Given the description of an element on the screen output the (x, y) to click on. 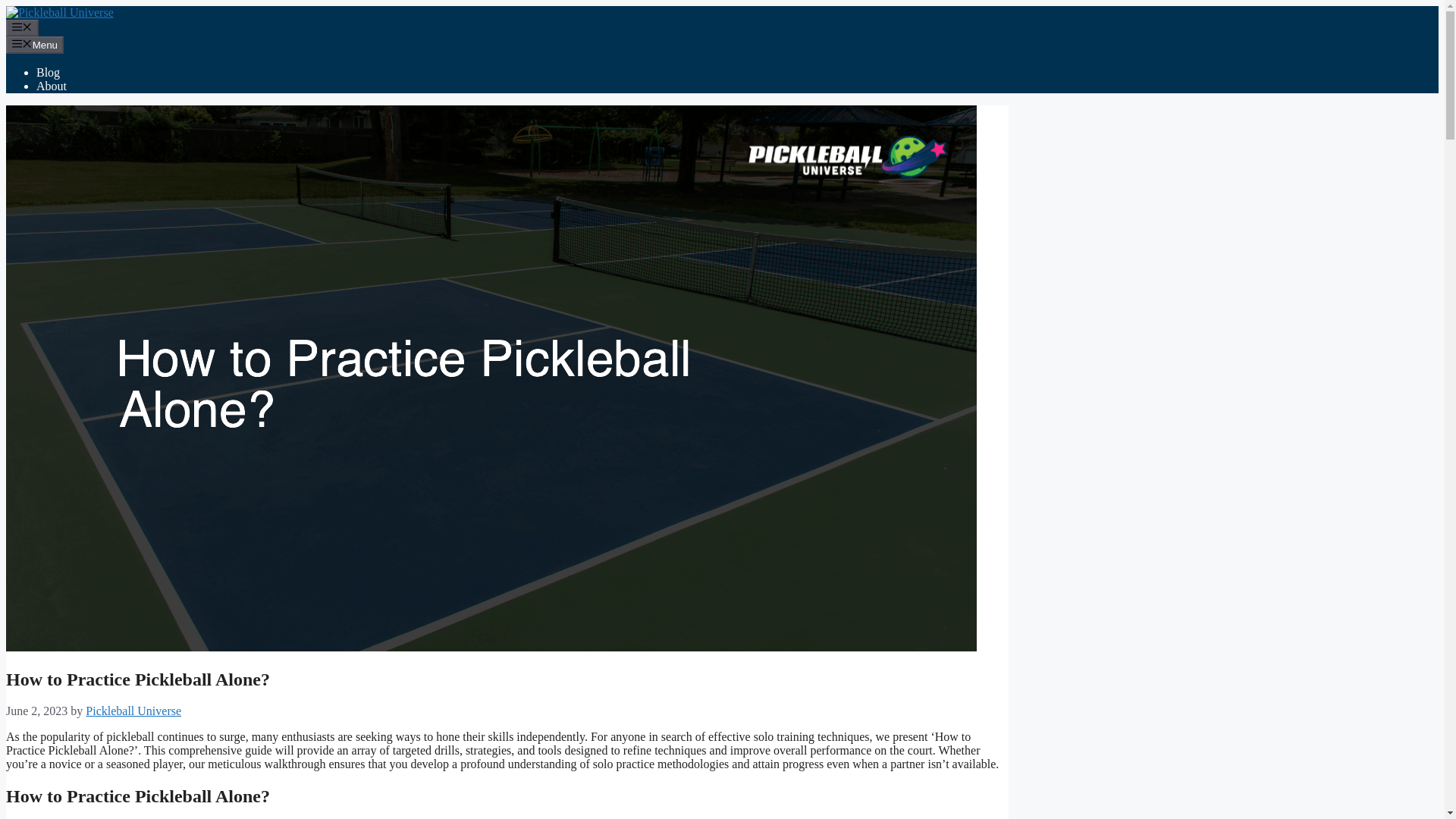
Blog (47, 72)
Menu (34, 44)
Pickleball Universe (132, 710)
View all posts by Pickleball Universe (132, 710)
Menu (22, 27)
About (51, 85)
